Given the description of an element on the screen output the (x, y) to click on. 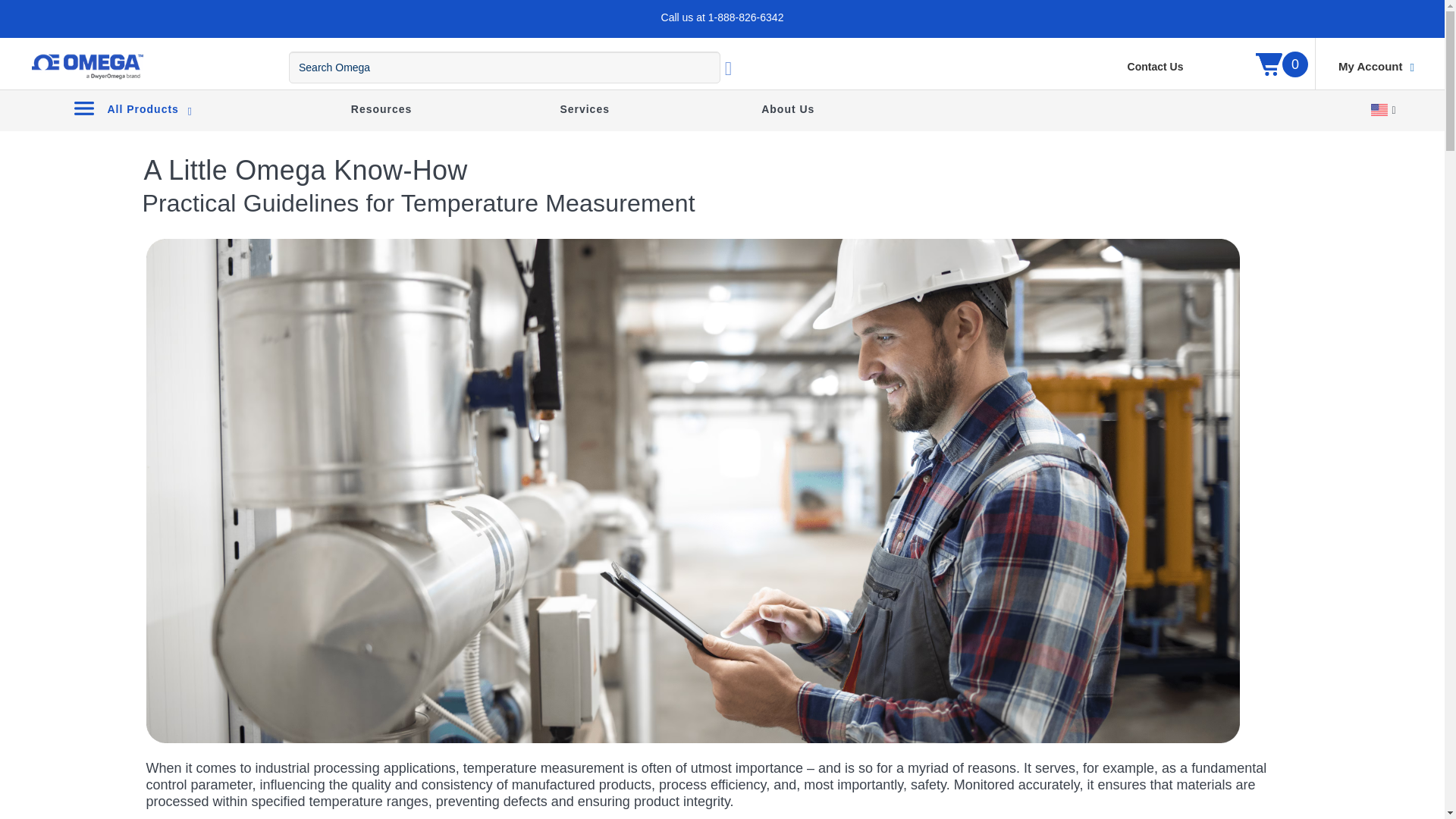
OMEGA Engineering (86, 66)
Contact Us (1154, 66)
My Account (1375, 66)
Contact Us (1154, 66)
Contact Us (1154, 66)
Skip to search (104, 32)
All Products (132, 108)
 Call Omega  (745, 17)
My Account (1375, 66)
All Products (132, 108)
1-888-826-6342 (745, 17)
